Given the description of an element on the screen output the (x, y) to click on. 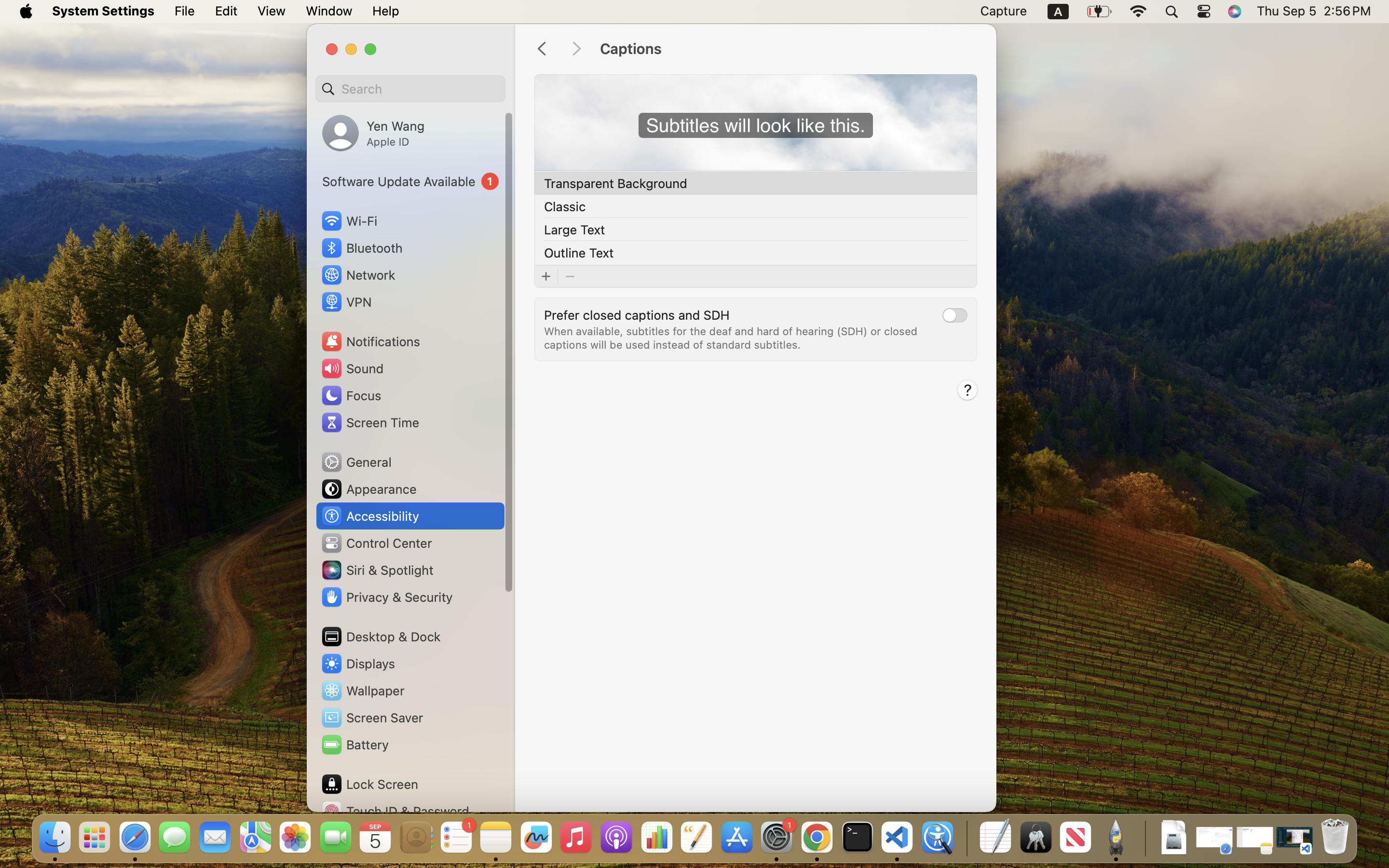
Bluetooth Element type: AXStaticText (361, 247)
Appearance Element type: AXStaticText (368, 488)
